Given the description of an element on the screen output the (x, y) to click on. 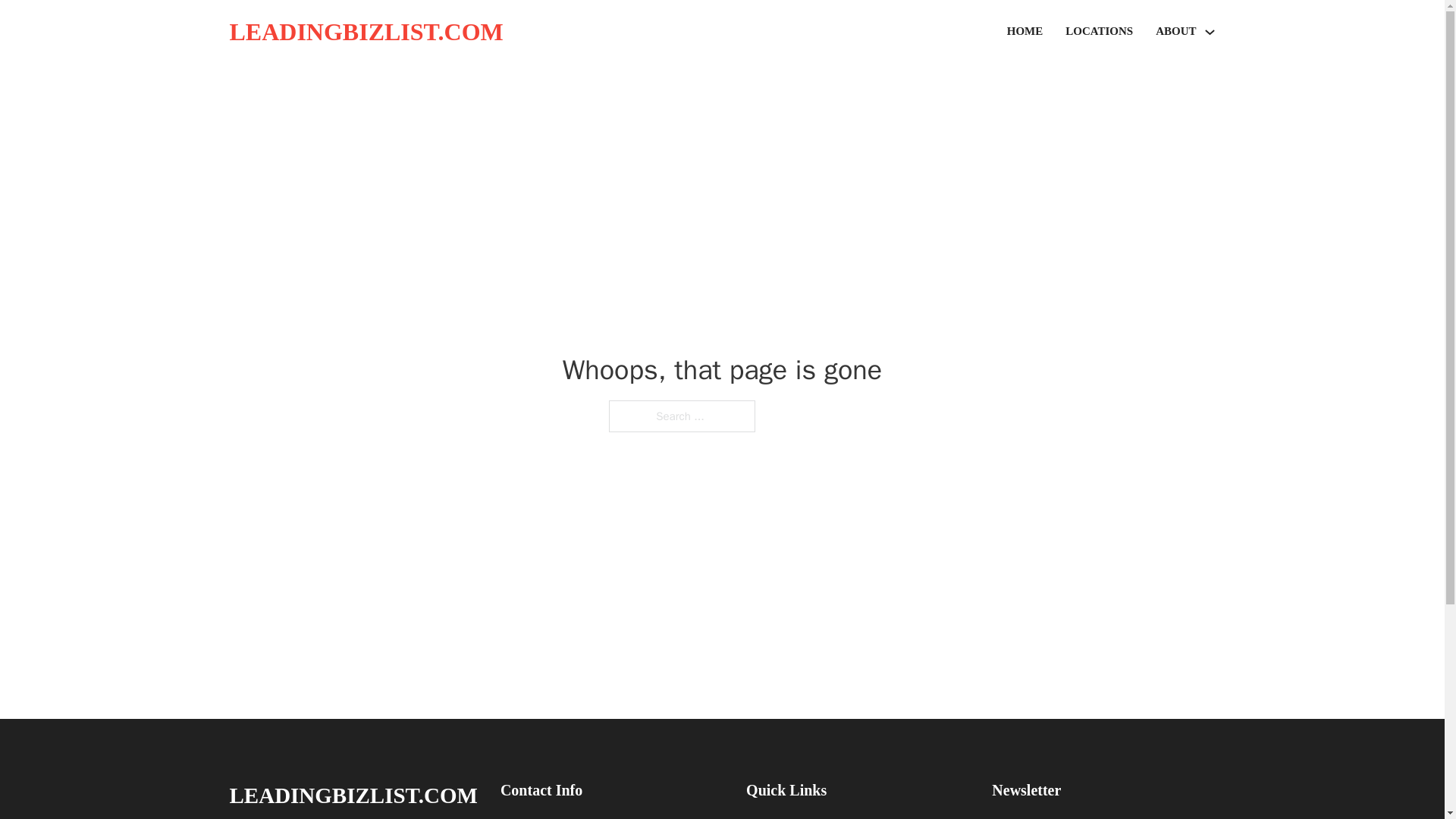
HOME (1025, 31)
LEADINGBIZLIST.COM (365, 31)
LEADINGBIZLIST.COM (352, 795)
LOCATIONS (1098, 31)
